Given the description of an element on the screen output the (x, y) to click on. 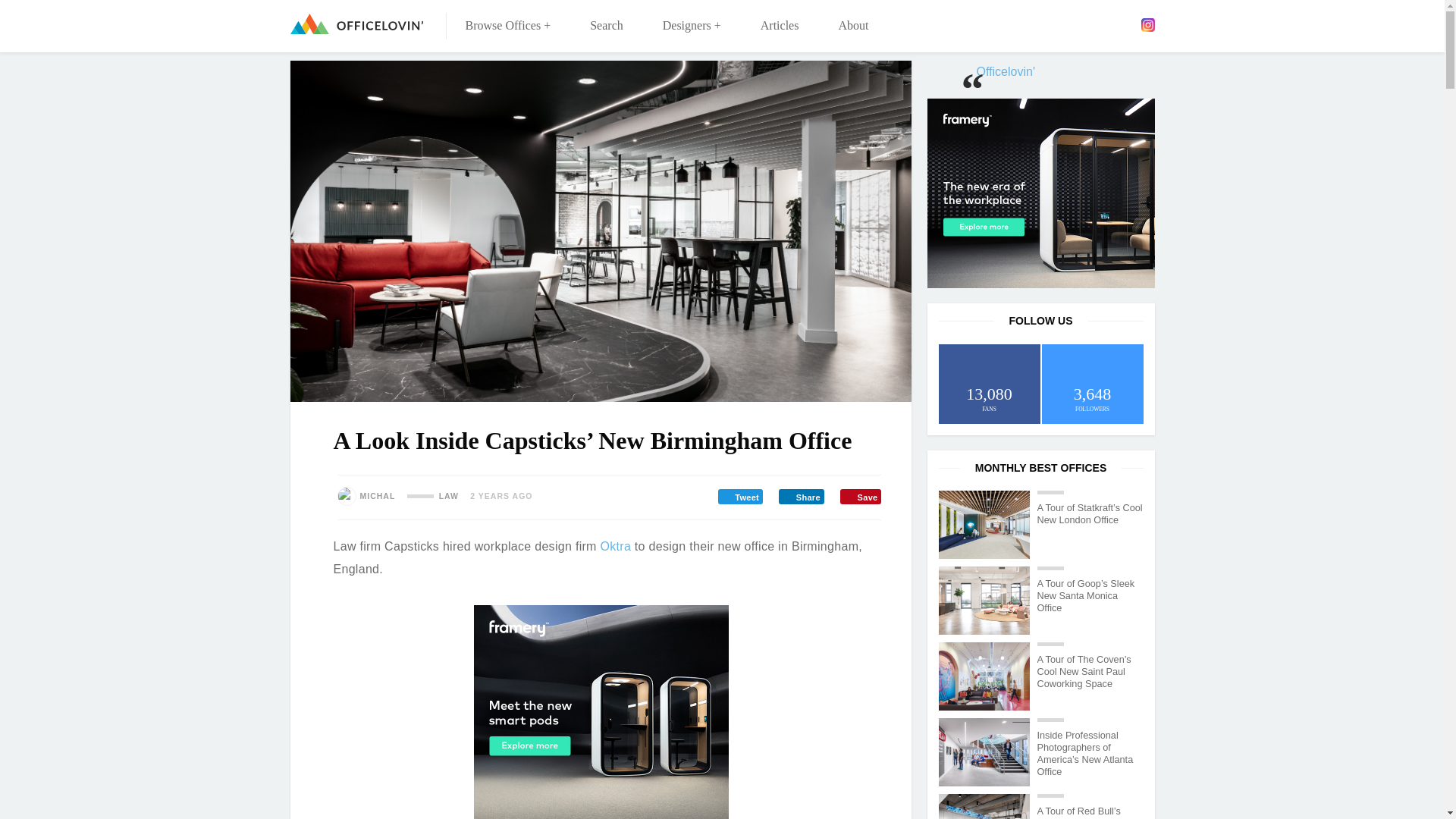
Officelovin on Facebook (1058, 24)
Search (606, 25)
Share link on Twitter (739, 496)
Share link on Pinterest (860, 496)
Officelovin on Twitter (1082, 24)
Officelovin on Pinterest (1125, 24)
Officelovin on LinkedIn (1102, 24)
Officelovin on Instagram (1147, 24)
Share link on LinkedIn (801, 496)
